Given the description of an element on the screen output the (x, y) to click on. 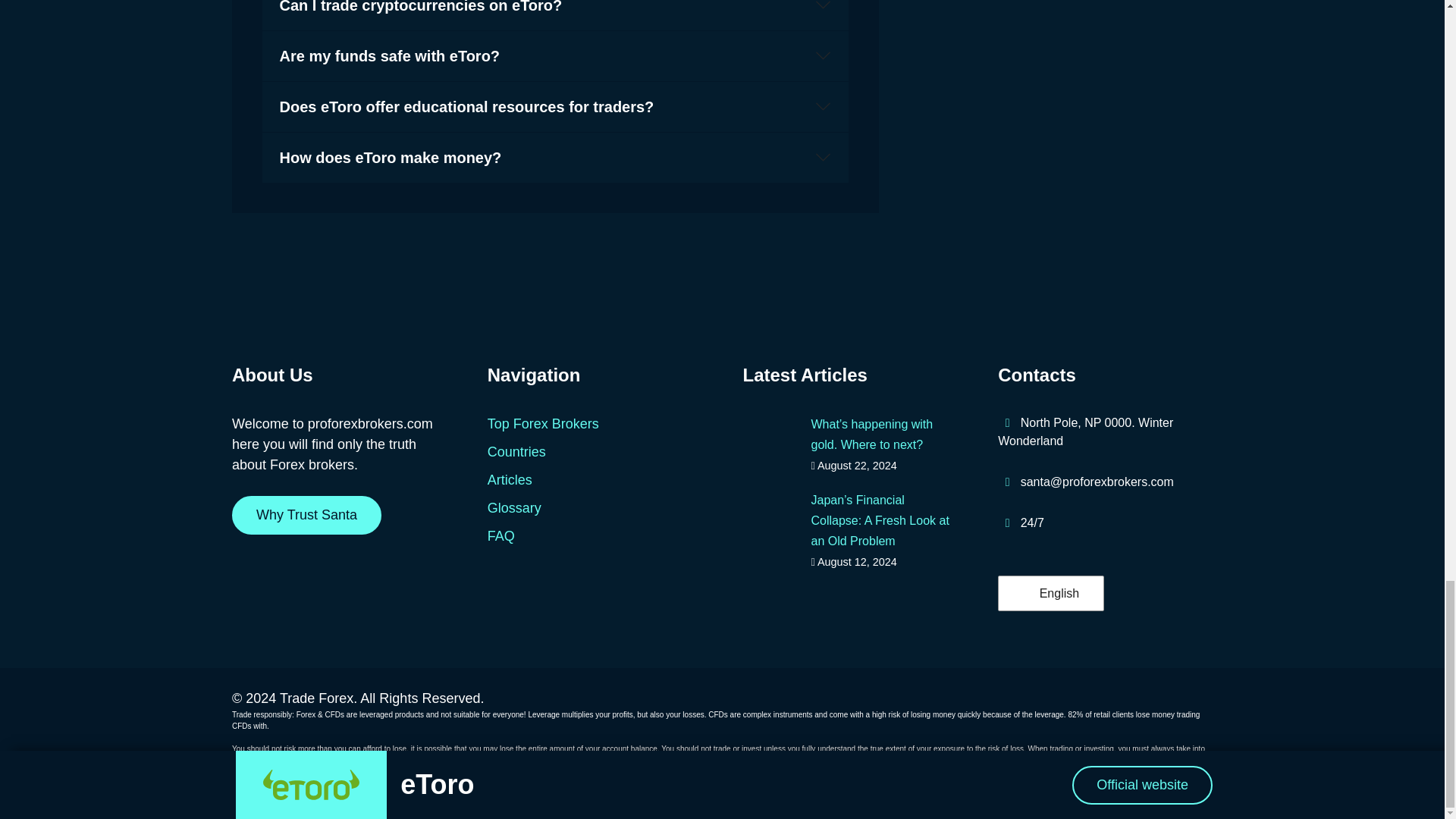
English (1026, 593)
English (1048, 593)
Japan's Financial Collapse: A Fresh Look at an Old Problem 2 (770, 518)
What's happening with gold. Where to next? 1 (770, 442)
